Given the description of an element on the screen output the (x, y) to click on. 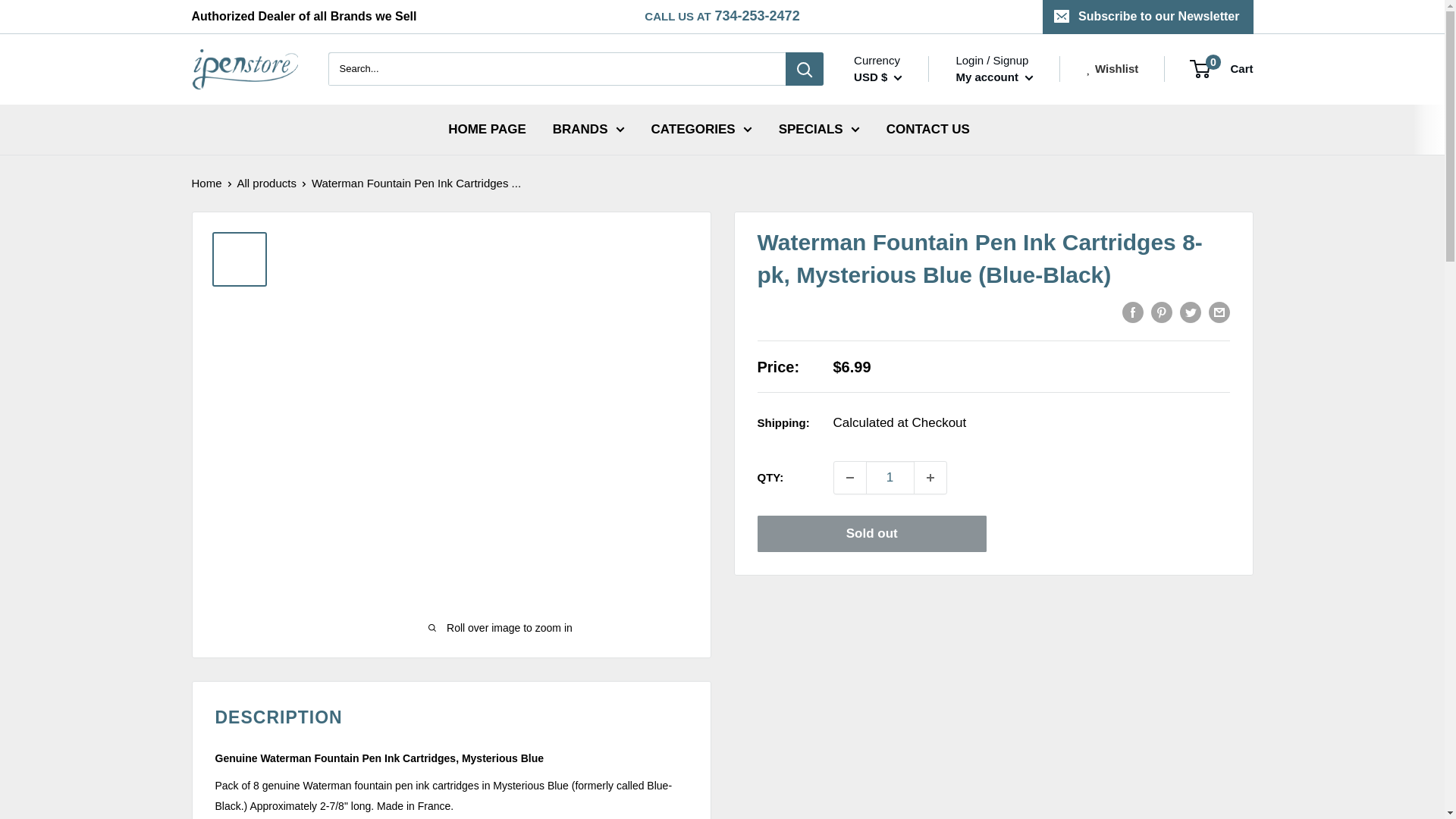
Subscribe to our Newsletter (1147, 16)
CALL US AT 734-253-2472 (722, 16)
Increase quantity by 1 (930, 477)
Decrease quantity by 1 (850, 477)
1 (890, 477)
